Given the description of an element on the screen output the (x, y) to click on. 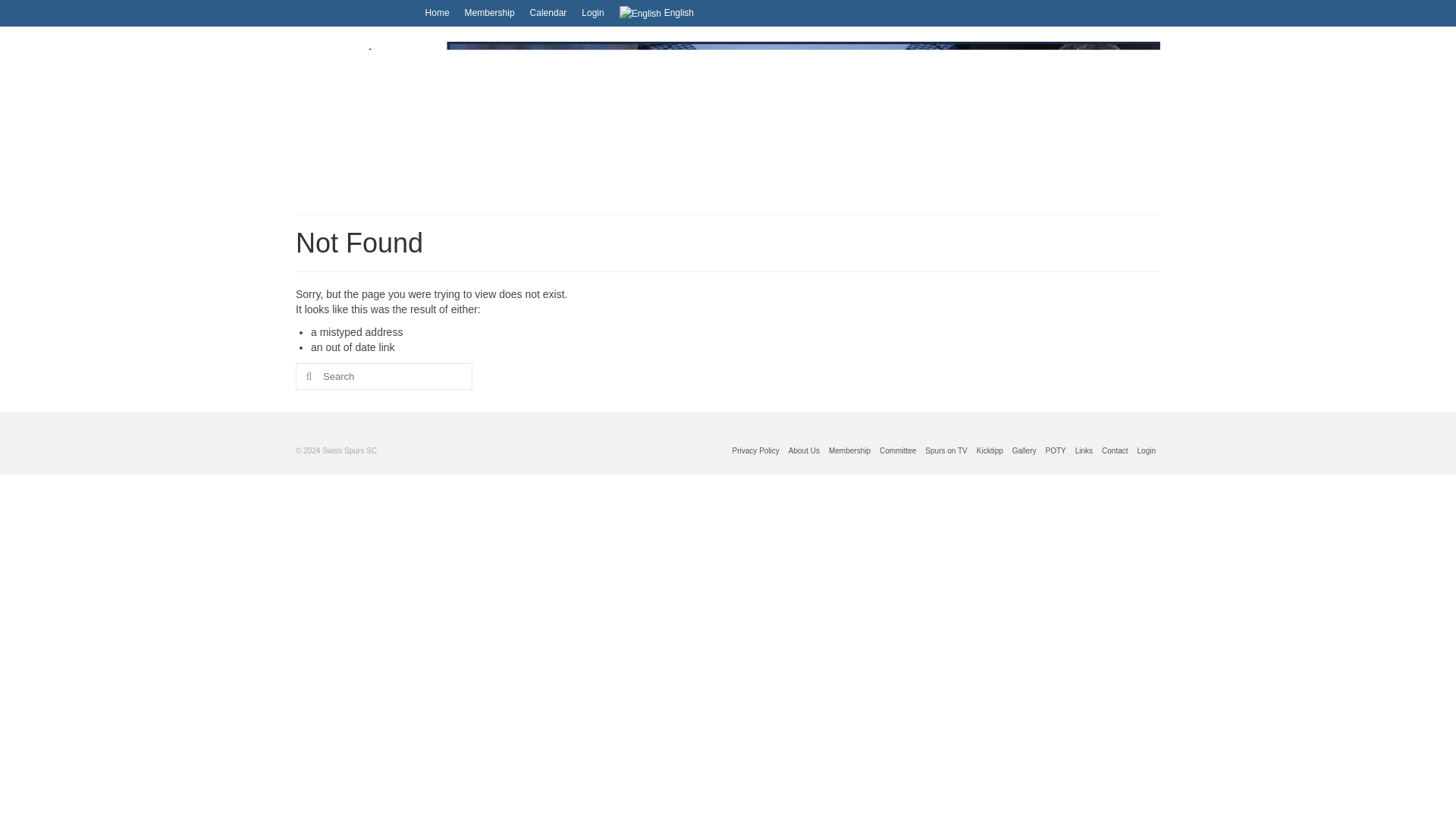
Login (615, 12)
Login (1146, 453)
Calendar (570, 12)
Membership (849, 453)
Kicktipp (989, 453)
Committee (897, 453)
POTY (1055, 453)
Home (460, 12)
Links (1083, 453)
Privacy Policy (756, 453)
About Us (804, 453)
Gallery (1024, 453)
English (667, 14)
Spurs on TV (945, 453)
Membership (512, 12)
